Given the description of an element on the screen output the (x, y) to click on. 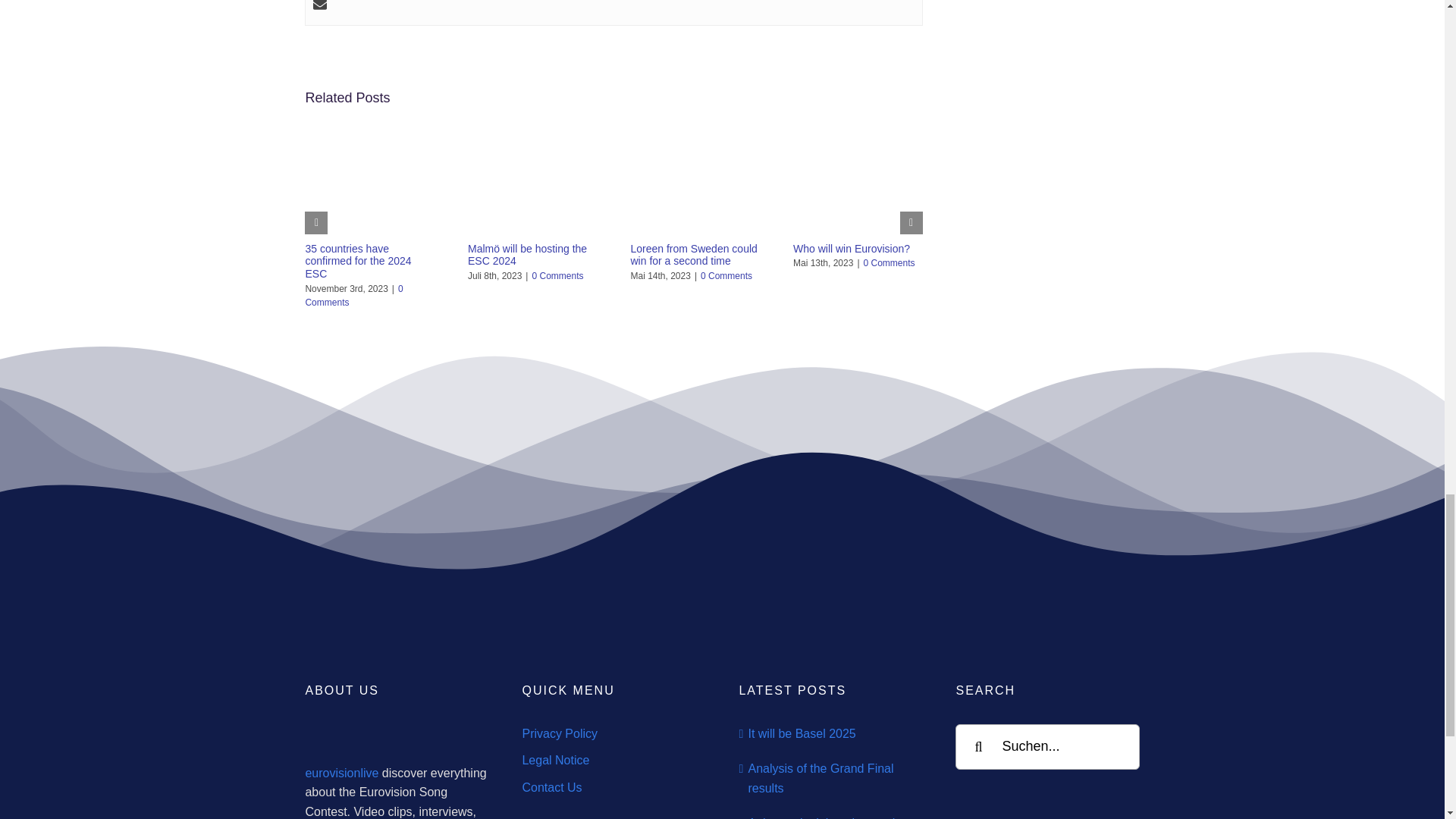
0 Comments (353, 295)
0 Comments (557, 276)
User email (319, 6)
35 countries have confirmed for the 2024 ESC (357, 261)
0 Comments (726, 276)
Loreen from Sweden could win for a second time (693, 254)
